Given the description of an element on the screen output the (x, y) to click on. 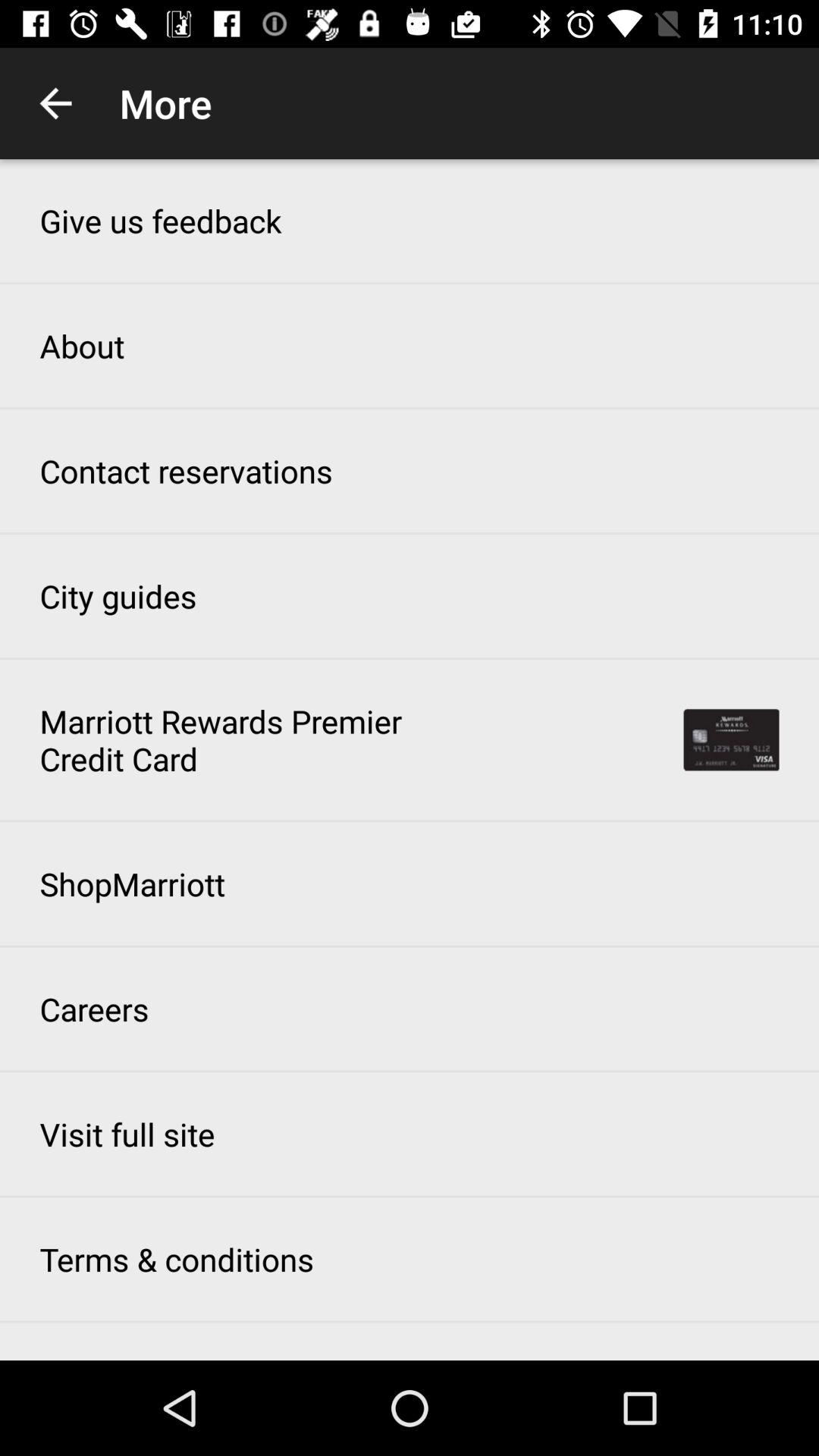
tap terms & conditions item (176, 1258)
